Given the description of an element on the screen output the (x, y) to click on. 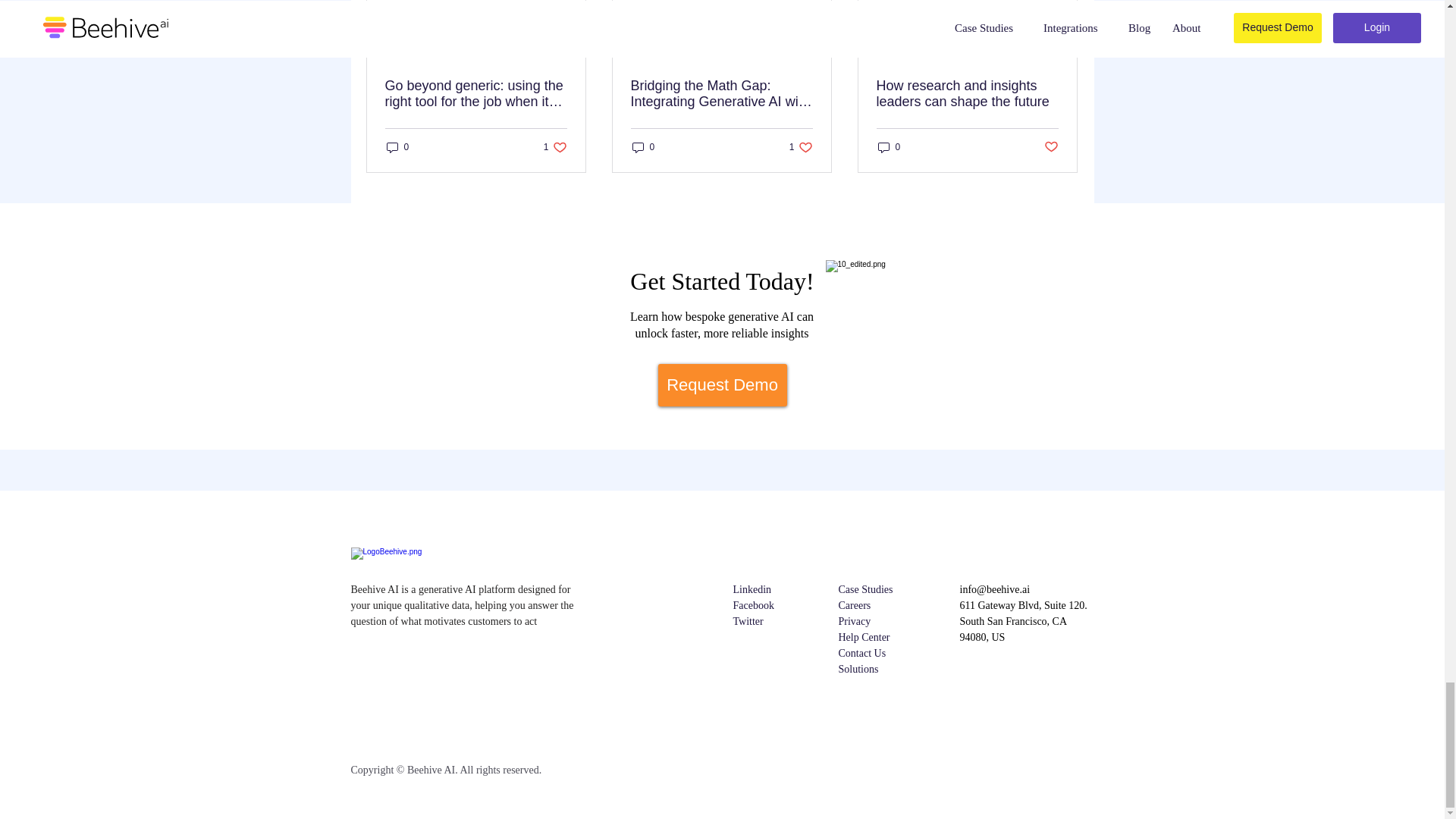
0 (643, 147)
How research and insights leaders can shape the future (967, 93)
Post not marked as liked (1050, 147)
Twitter (747, 621)
Facebook (752, 604)
0 (555, 147)
Case Studies (397, 147)
Linkedin (865, 589)
